Given the description of an element on the screen output the (x, y) to click on. 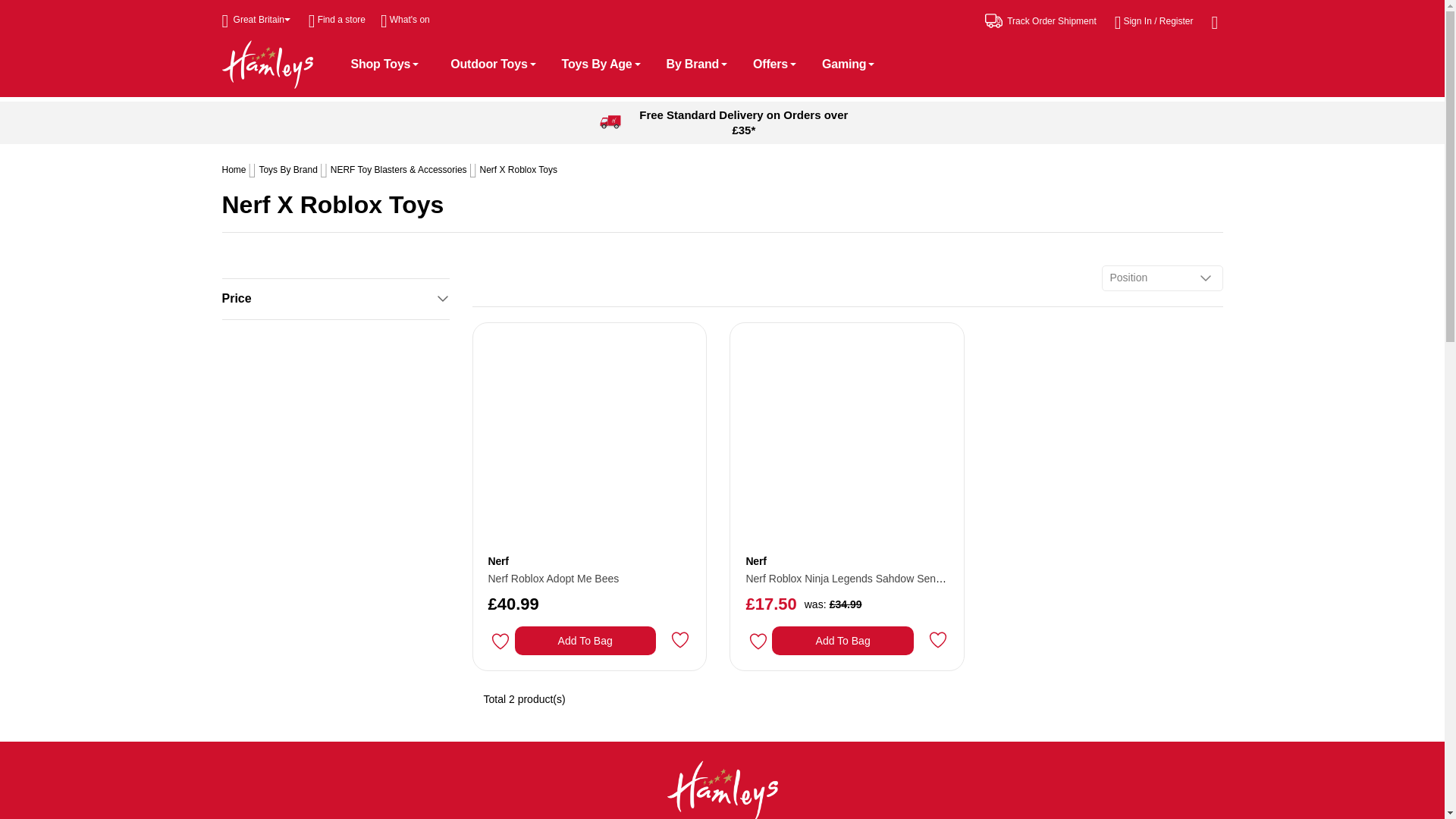
Find a store (336, 19)
What's on (404, 19)
Great Britain (255, 19)
Shop Toys (386, 64)
Track Order Shipment (1040, 20)
